Given the description of an element on the screen output the (x, y) to click on. 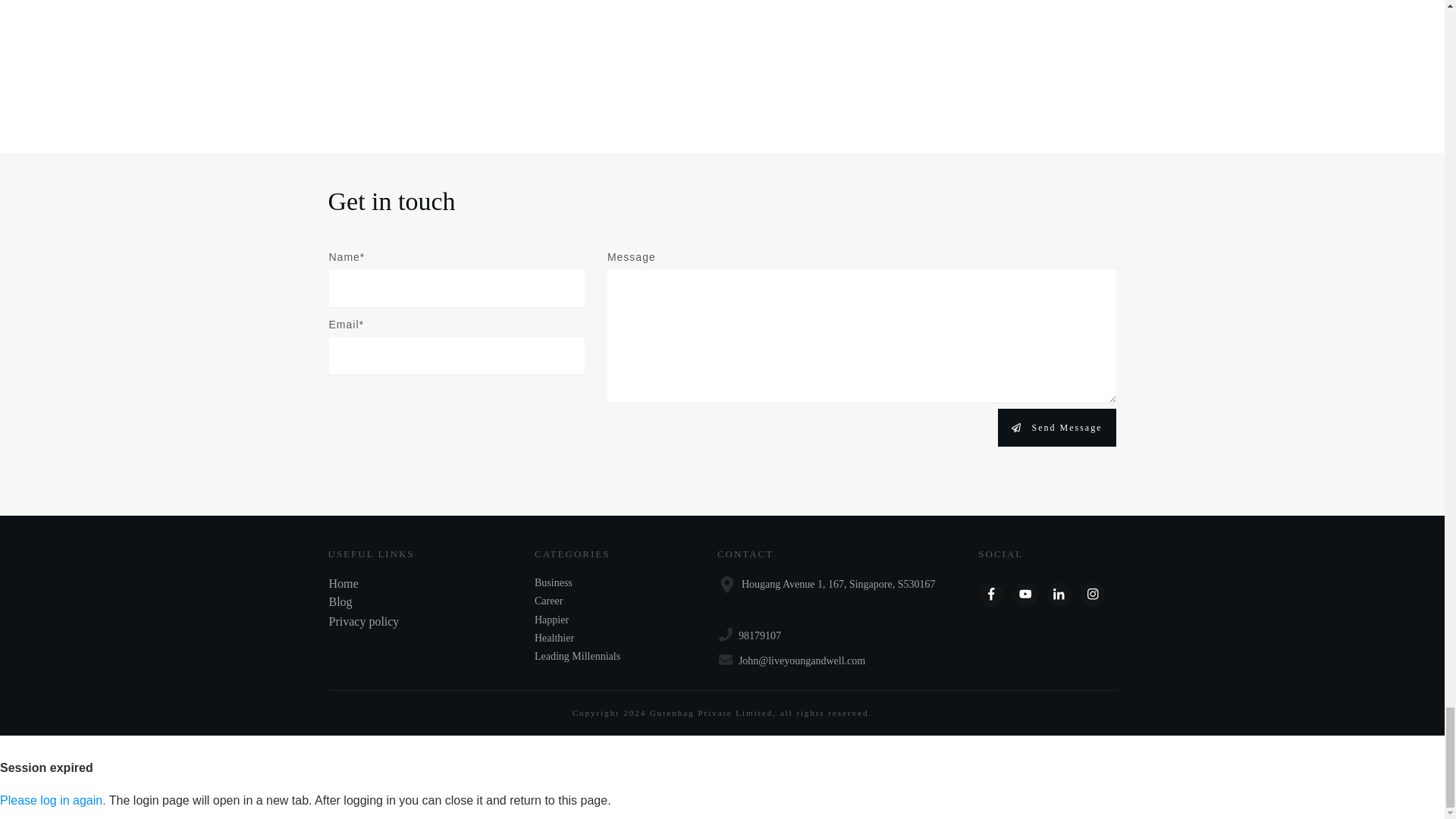
Business (553, 582)
Career (548, 600)
Send Message (1056, 427)
Blog (340, 601)
Home (343, 583)
Privacy policy (363, 621)
Leading Millennials (577, 656)
Healthier (553, 638)
Happier (551, 619)
